Given the description of an element on the screen output the (x, y) to click on. 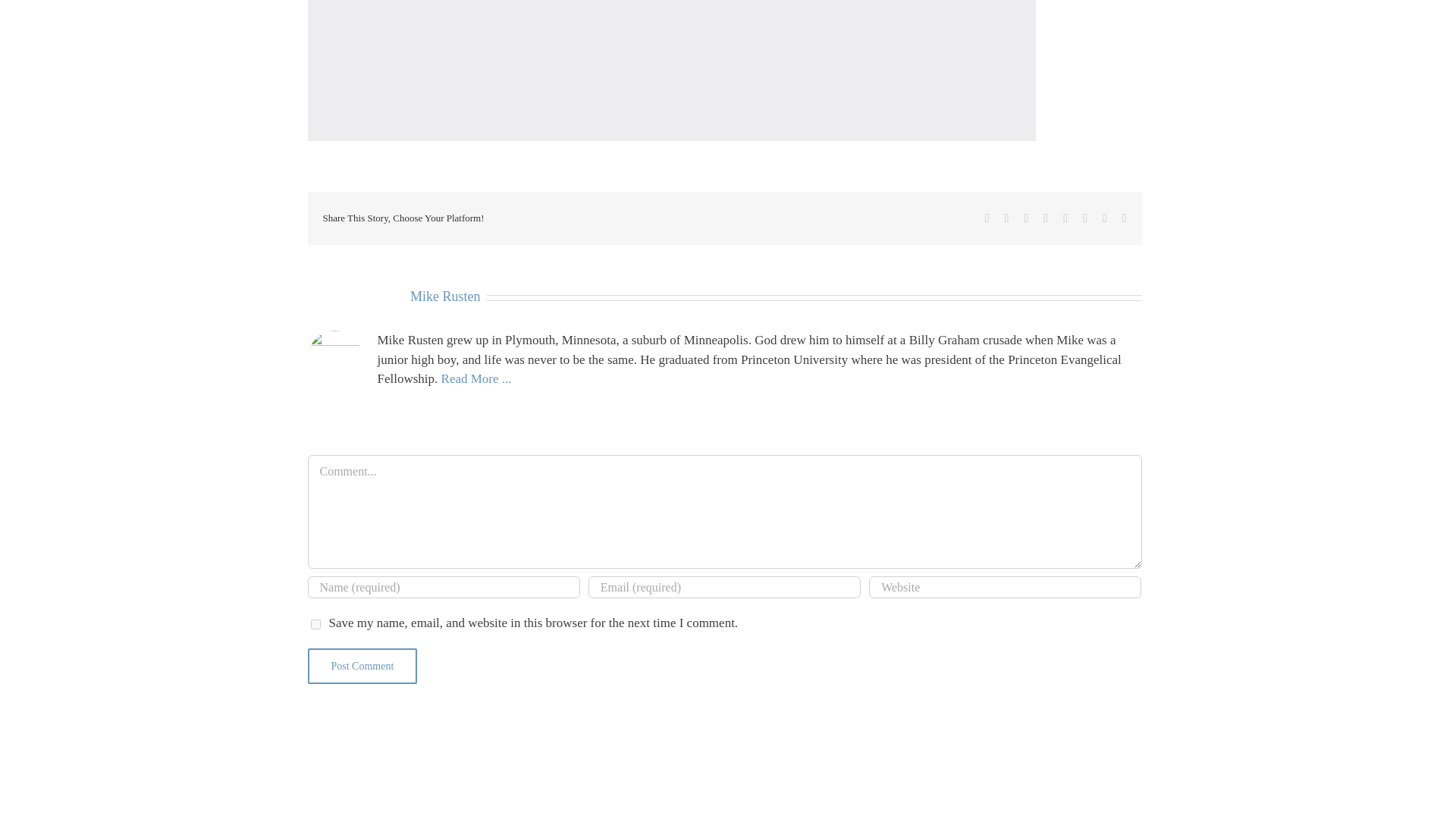
Post Comment (362, 665)
